Given the description of an element on the screen output the (x, y) to click on. 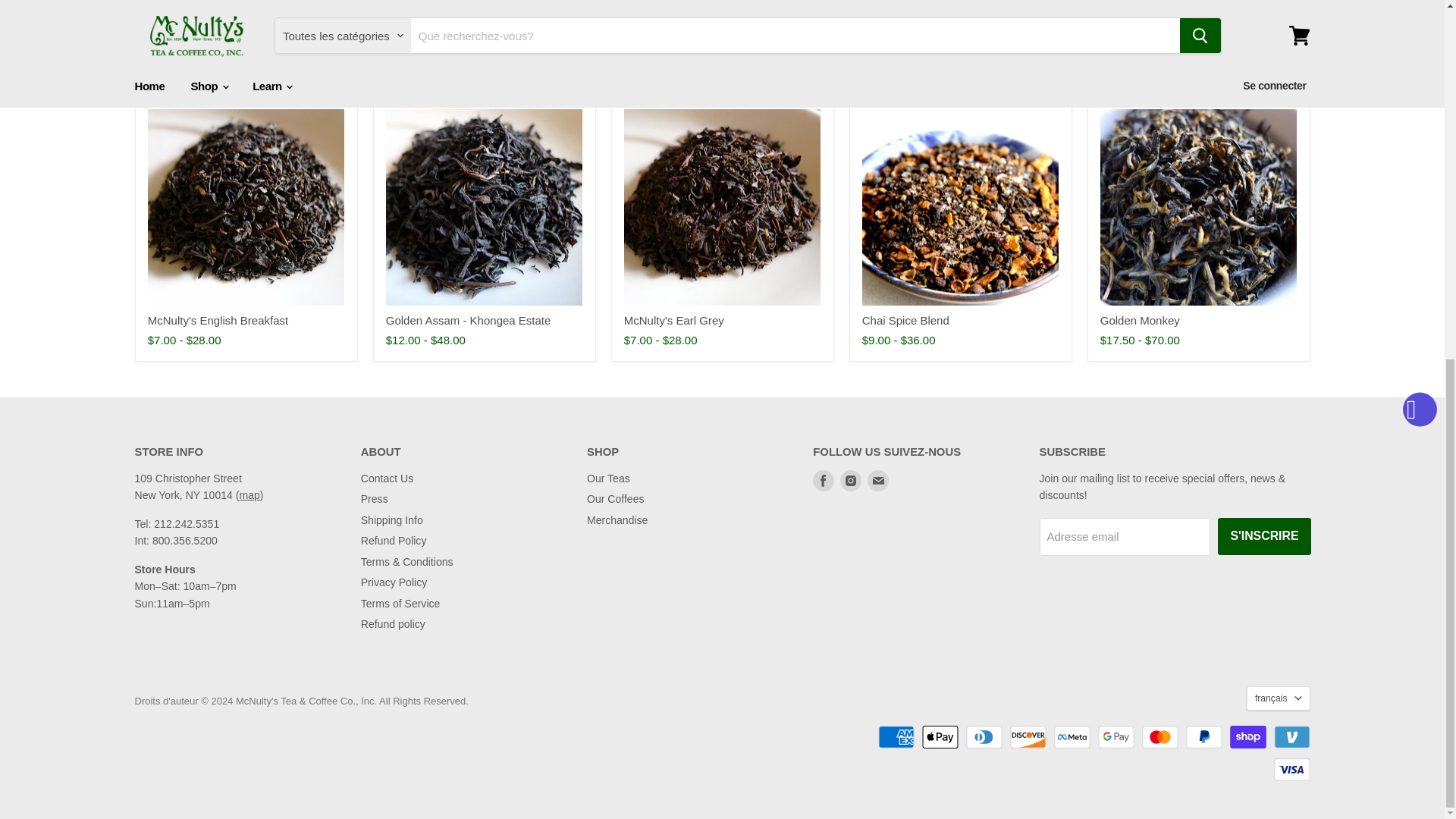
American Express (895, 736)
Instagram (850, 480)
Google Map (248, 494)
Apple Pay (939, 736)
Diners Club (984, 736)
Facebook (823, 480)
Email (877, 480)
